Given the description of an element on the screen output the (x, y) to click on. 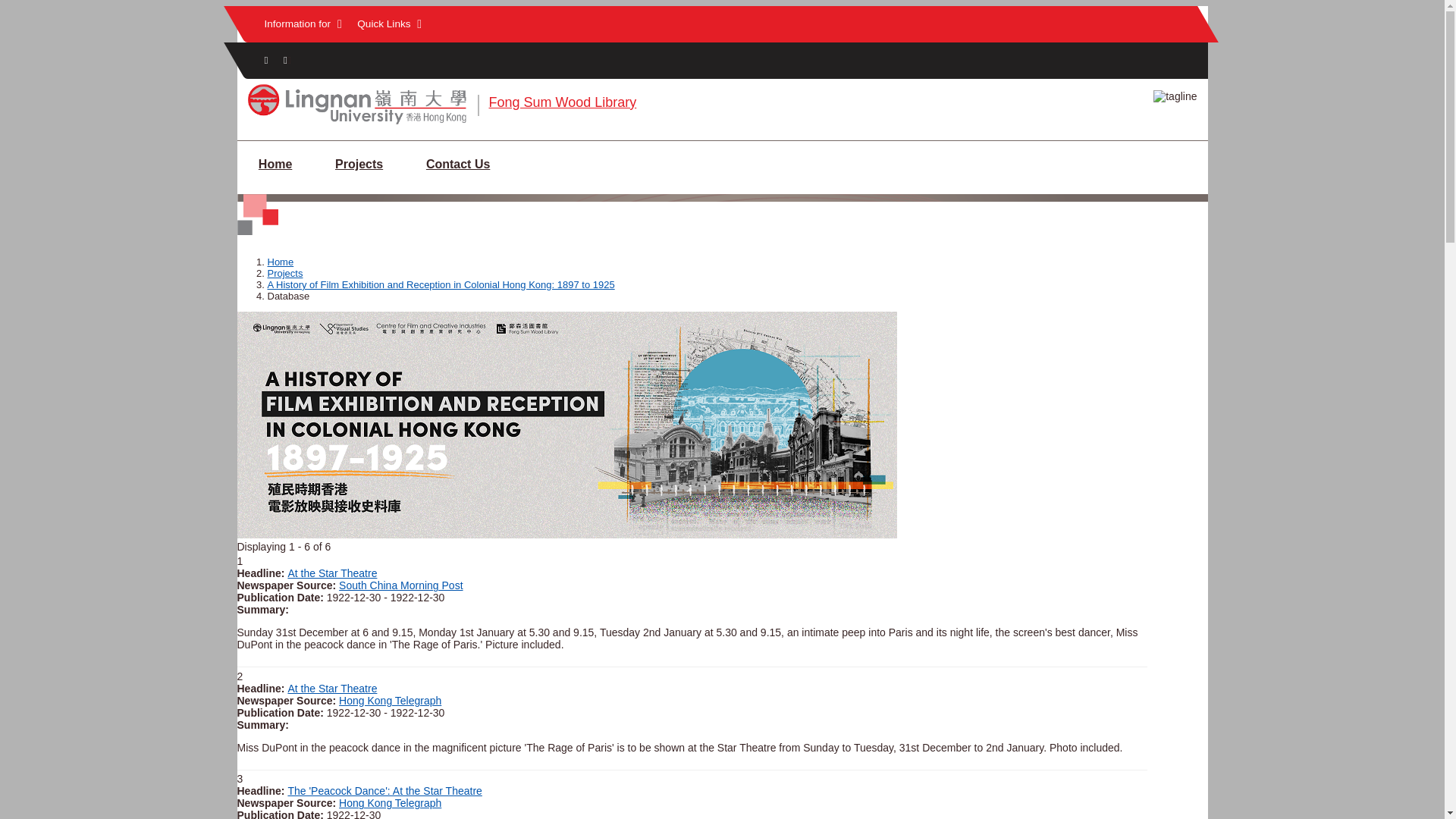
Lingnan University (356, 123)
Information for (301, 23)
Quick Links (389, 23)
Fong Sum Wood Library (561, 102)
Skip to main content (722, 7)
Fong Sum Wood Library (561, 102)
